Given the description of an element on the screen output the (x, y) to click on. 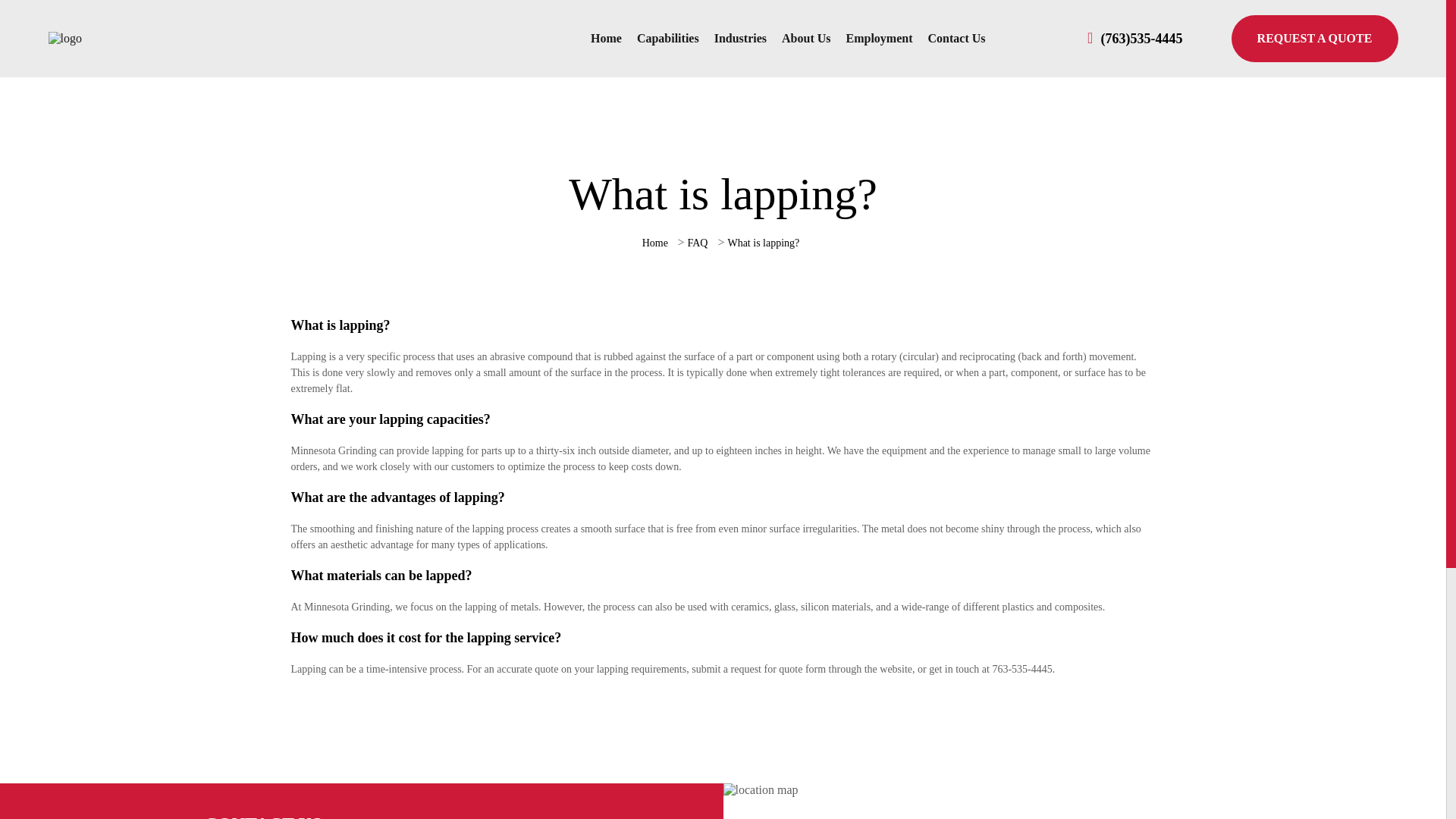
FAQ (698, 242)
Home (605, 38)
Employment (879, 38)
REQUEST A QUOTE (1314, 38)
Industries (740, 38)
Go to FAQ. (698, 242)
Contact Us (956, 38)
Capabilities (667, 38)
About Us (806, 38)
Home (655, 242)
Go to Minnesota Grinding. (655, 242)
